Given the description of an element on the screen output the (x, y) to click on. 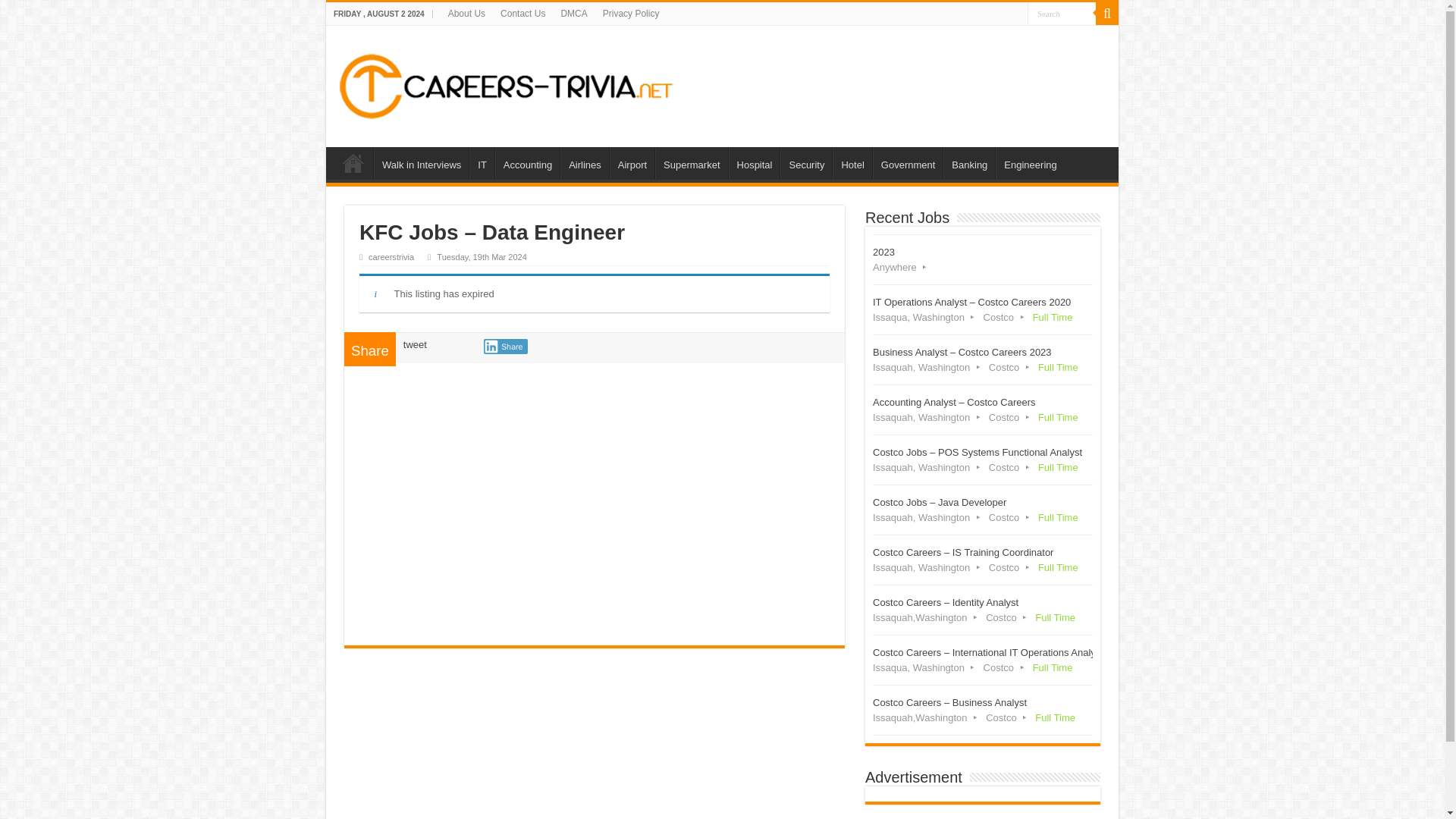
Search (1061, 13)
tweet (414, 344)
Airport (631, 163)
Hospital (754, 163)
Privacy Policy (630, 13)
Airlines (584, 163)
Walk in Interviews (421, 163)
Search (1061, 13)
Contact Us (523, 13)
Security (805, 163)
careerstrivia (390, 256)
Search (1107, 13)
Supermarket (690, 163)
Advertisement (594, 499)
About Us (467, 13)
